Given the description of an element on the screen output the (x, y) to click on. 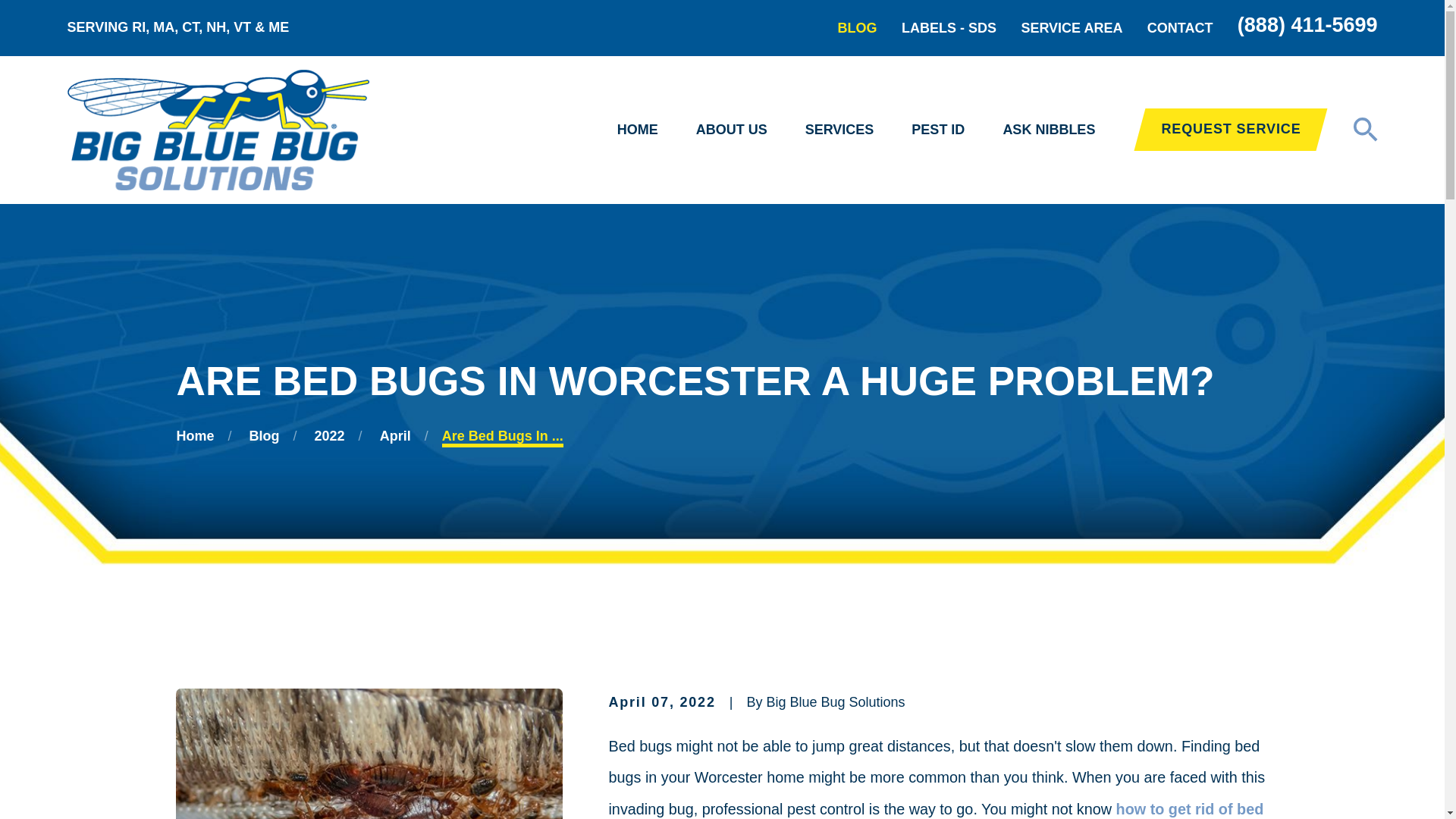
CONTACT (1179, 28)
BLOG (857, 28)
SERVICE AREA (1071, 28)
Go Home (195, 435)
SERVICES (840, 129)
Home (217, 129)
HOME (637, 129)
ABOUT US (731, 129)
LABELS - SDS (948, 28)
PEST ID (937, 129)
